Given the description of an element on the screen output the (x, y) to click on. 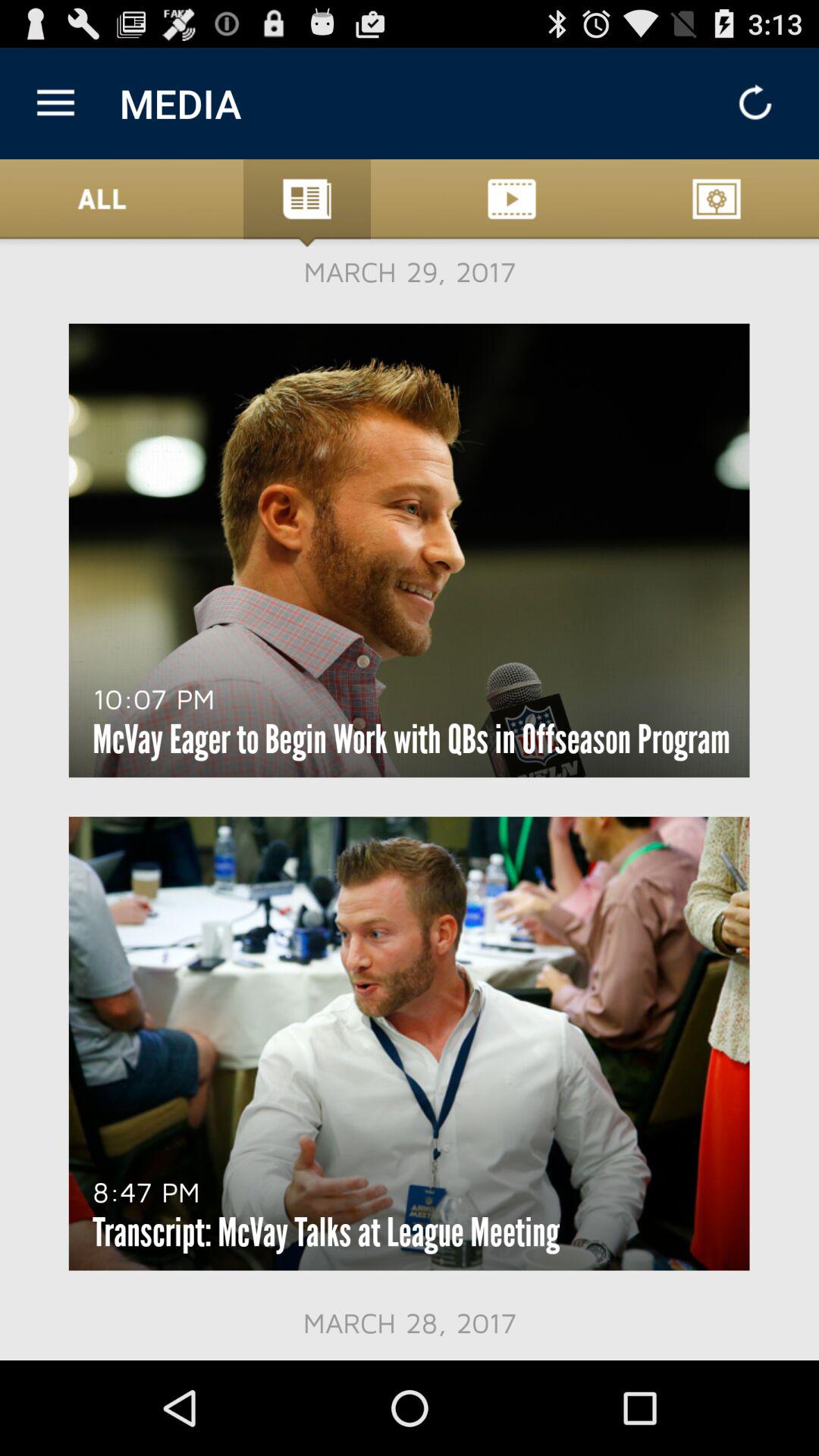
tap 8:47 pm at the bottom left corner (146, 1191)
